Given the description of an element on the screen output the (x, y) to click on. 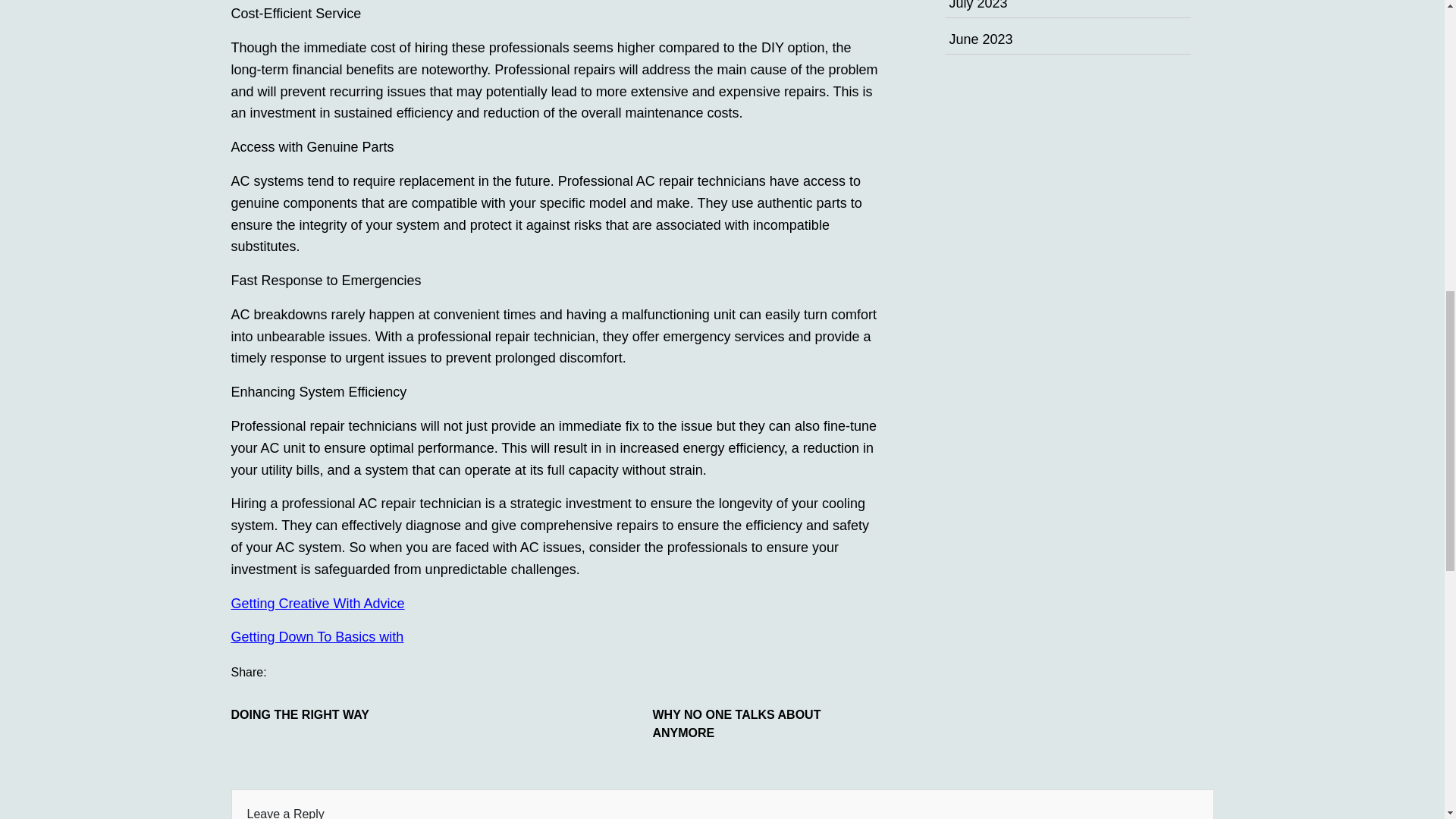
July 2023 (978, 5)
DOING THE RIGHT WAY (344, 714)
WHY NO ONE TALKS ABOUT ANYMORE (765, 723)
Getting Down To Basics with (316, 636)
June 2023 (981, 38)
Getting Creative With Advice (317, 603)
